Given the description of an element on the screen output the (x, y) to click on. 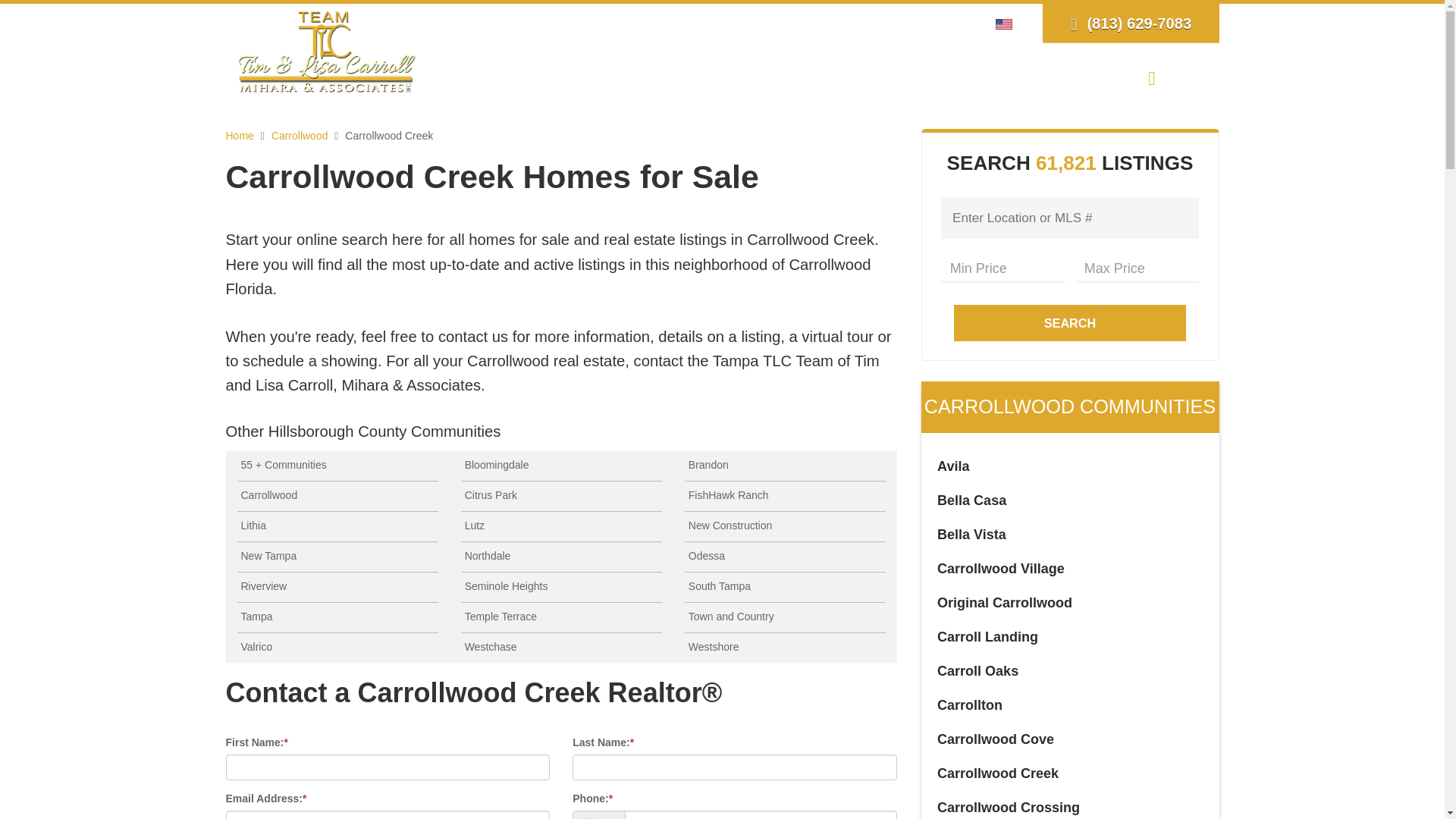
Select Language (1008, 23)
Home Page (326, 50)
View Carrollwood (336, 495)
SEARCH (636, 77)
Register (920, 23)
Login (872, 23)
ABOUT (555, 77)
View Brandon (784, 465)
View Bloomingdale (561, 465)
BUYERS (721, 77)
